Given the description of an element on the screen output the (x, y) to click on. 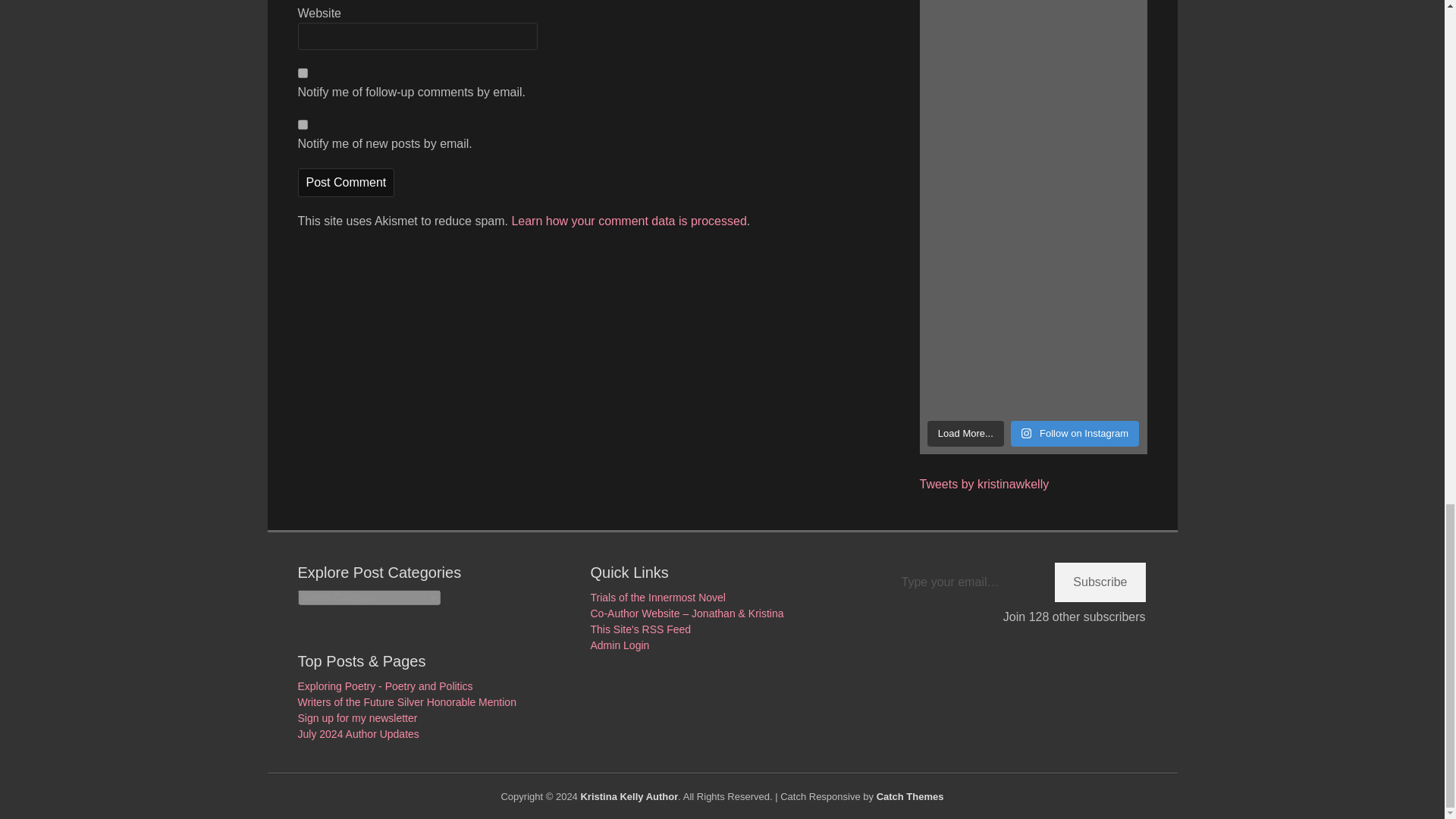
RSS Feed (639, 629)
subscribe (302, 124)
Login for Admin (619, 644)
Post Comment (345, 182)
subscribe (302, 72)
